Given the description of an element on the screen output the (x, y) to click on. 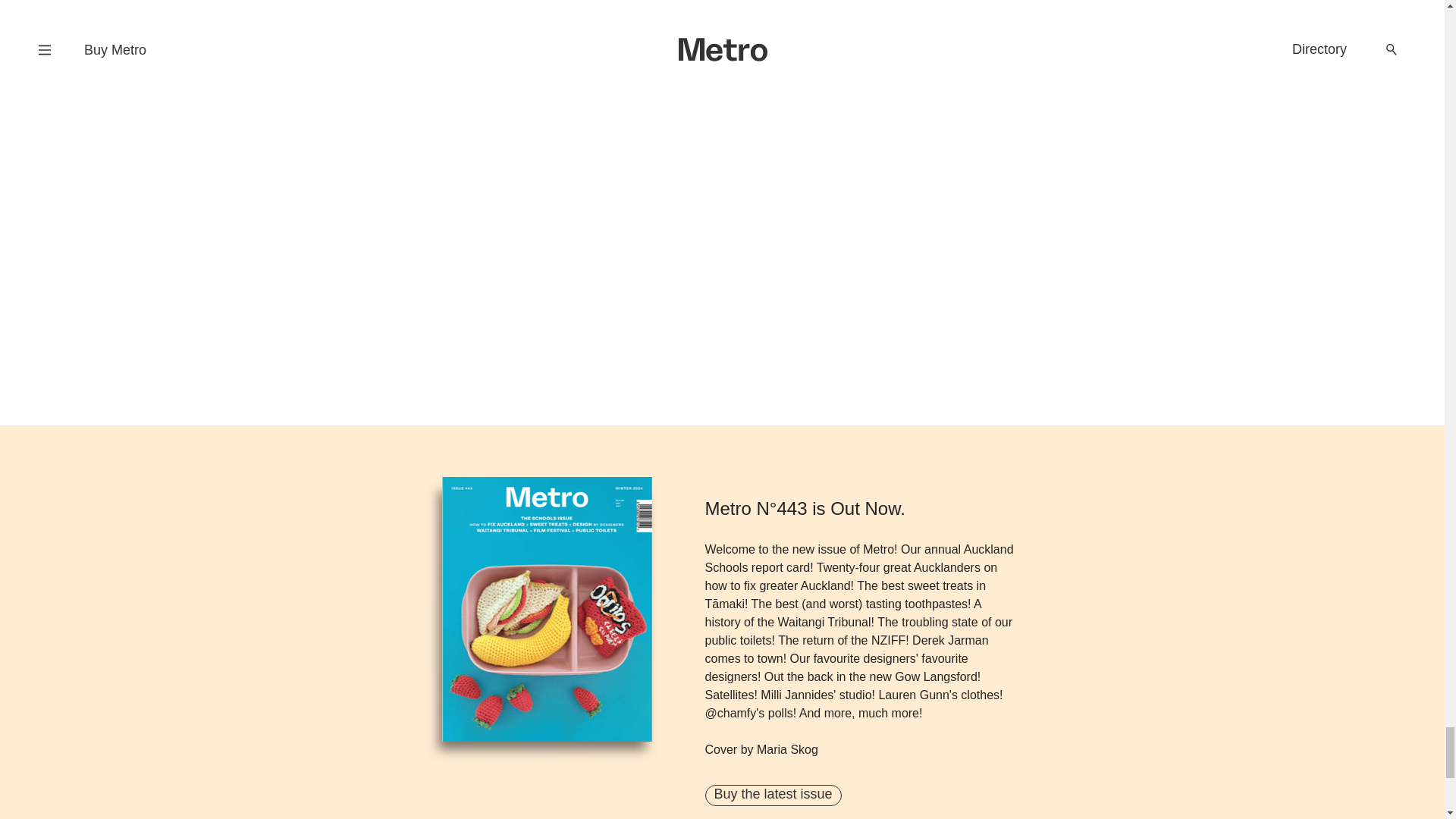
Buy the latest issue (772, 794)
